Given the description of an element on the screen output the (x, y) to click on. 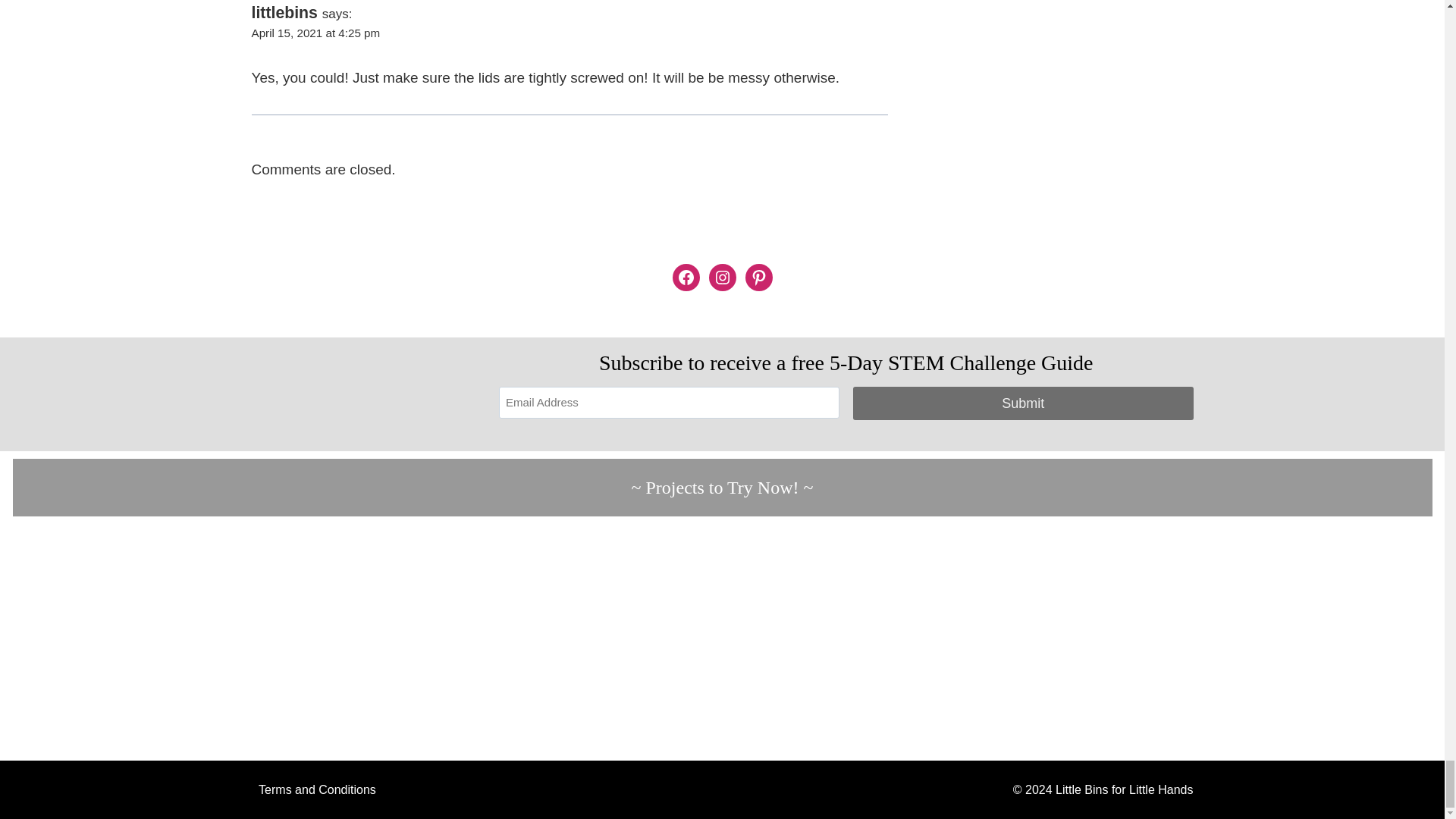
Catapult STEM Activity for Kids (604, 638)
Submit (1023, 402)
Fluffy Saline Solution Slime (1080, 638)
Naked Egg Activity Rubber Egg Science (840, 638)
lemon volcano erupting chemistry (1318, 638)
Science Jar Activities for Kids (126, 638)
